Given the description of an element on the screen output the (x, y) to click on. 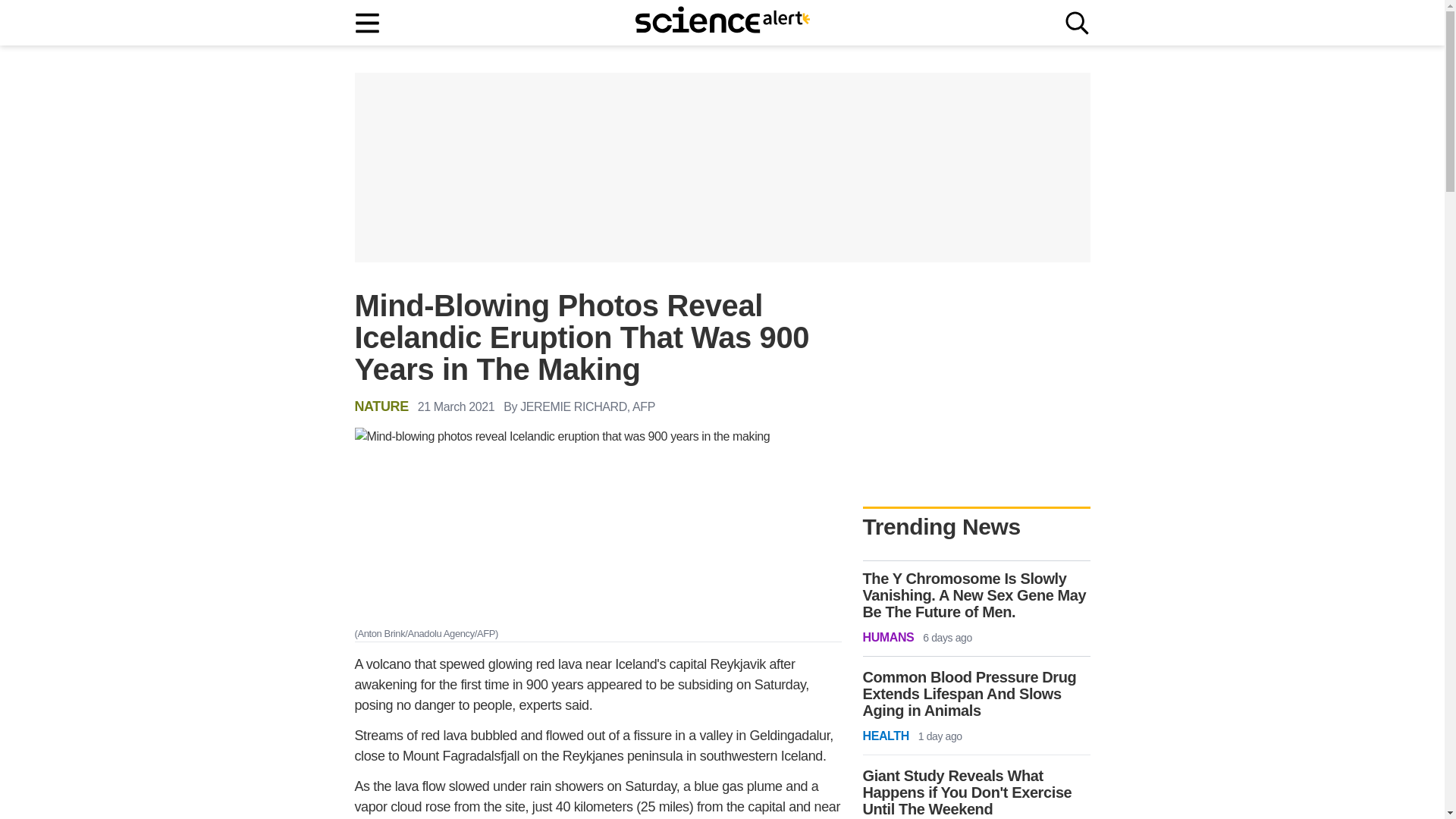
NATURE (382, 406)
HUMANS (888, 637)
HEALTH (885, 736)
